Given the description of an element on the screen output the (x, y) to click on. 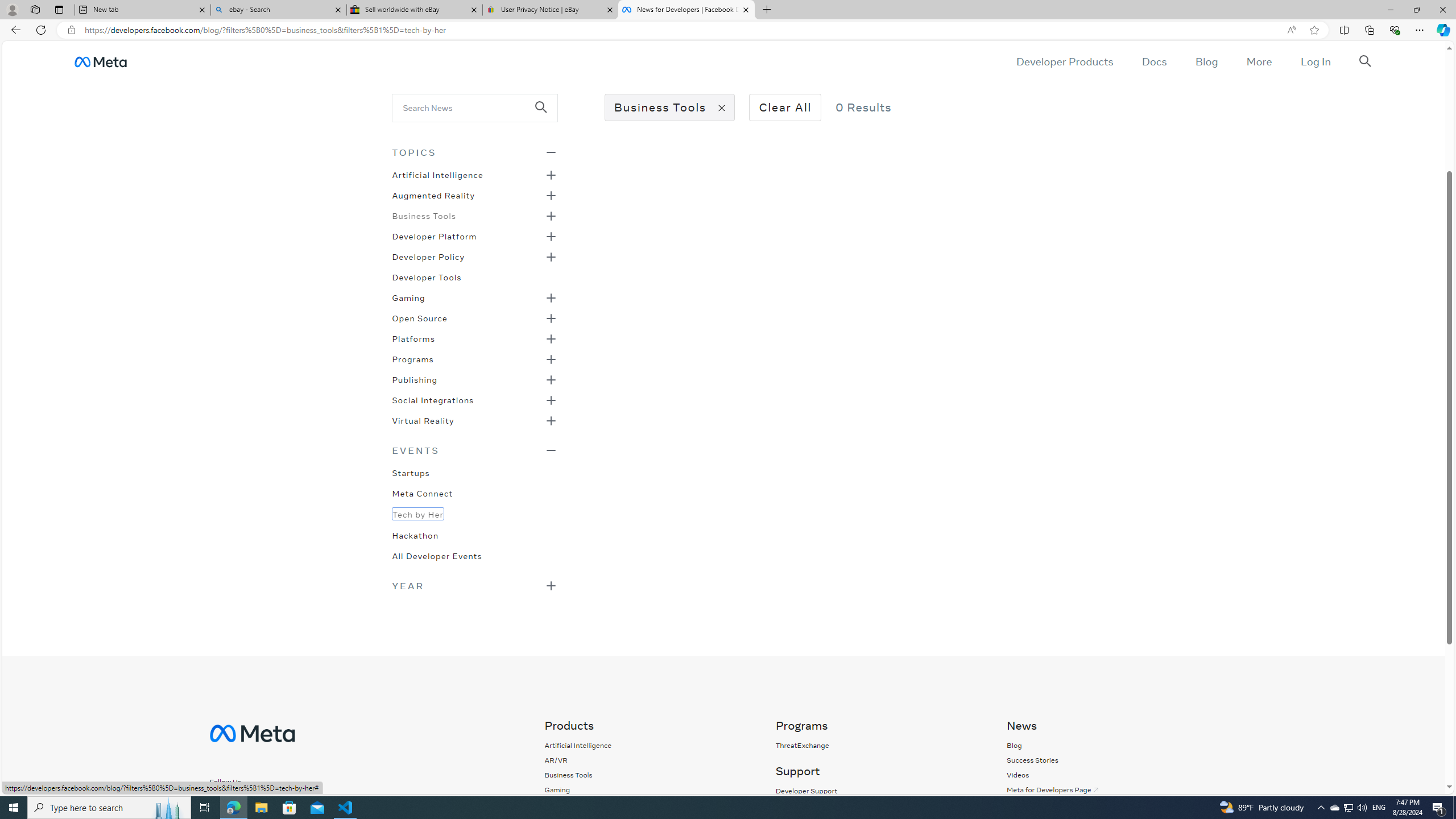
AR/VR (577, 760)
Business Tools (568, 774)
Open Source (418, 317)
More (1259, 61)
Startups (410, 472)
Class: _9890 _98ez (474, 585)
Blog (1014, 745)
Meta Connect (421, 492)
